Given the description of an element on the screen output the (x, y) to click on. 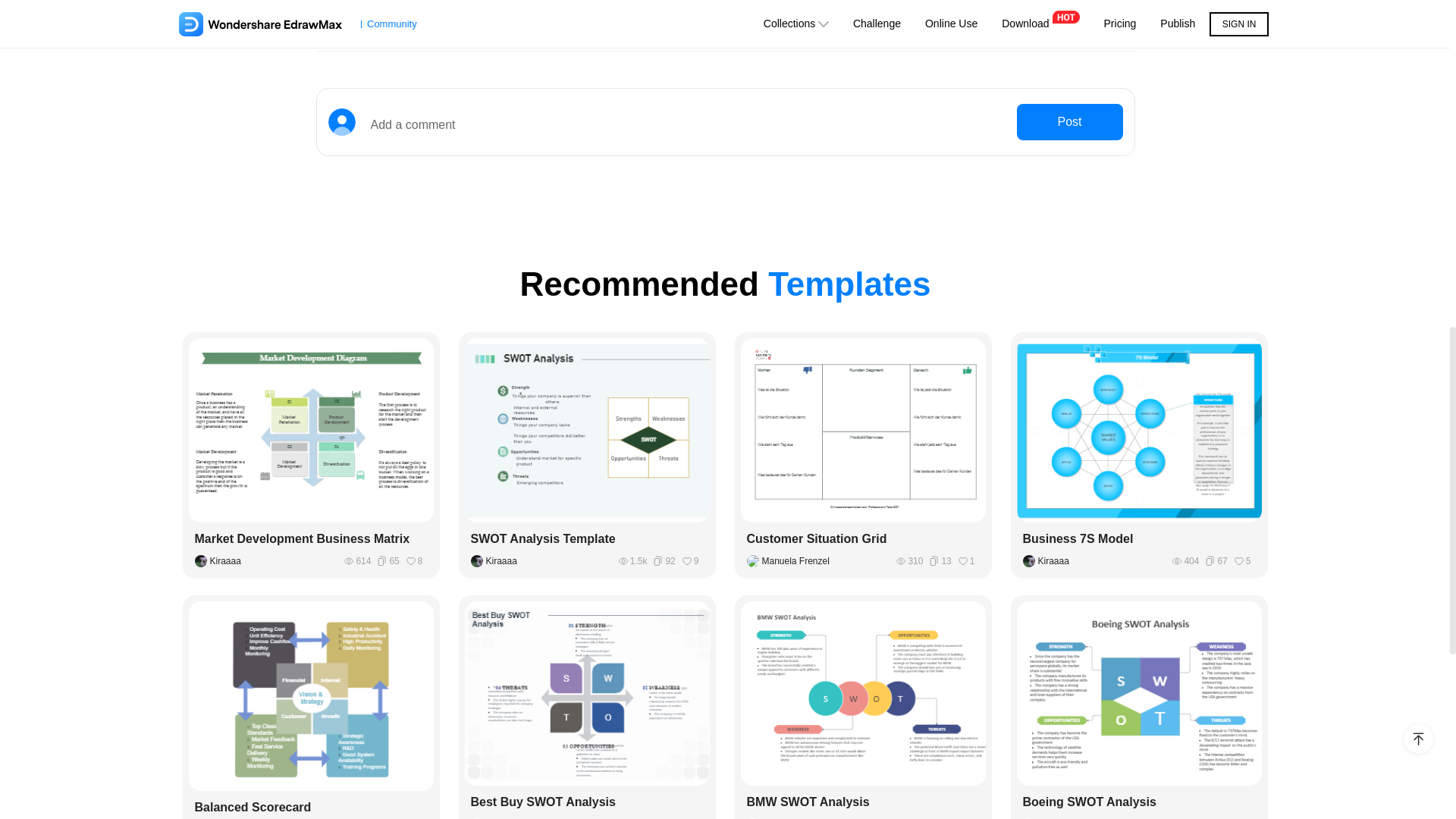
Best Buy SWOT Analysis (587, 802)
Business 7S Model (1139, 538)
Boeing SWOT Analysis (1139, 802)
Balanced Scorecard (310, 807)
BMW SWOT Analysis (862, 802)
Market Development Business Matrix (310, 538)
Customer Situation Grid (862, 538)
SWOT Analysis Template (587, 538)
